Given the description of an element on the screen output the (x, y) to click on. 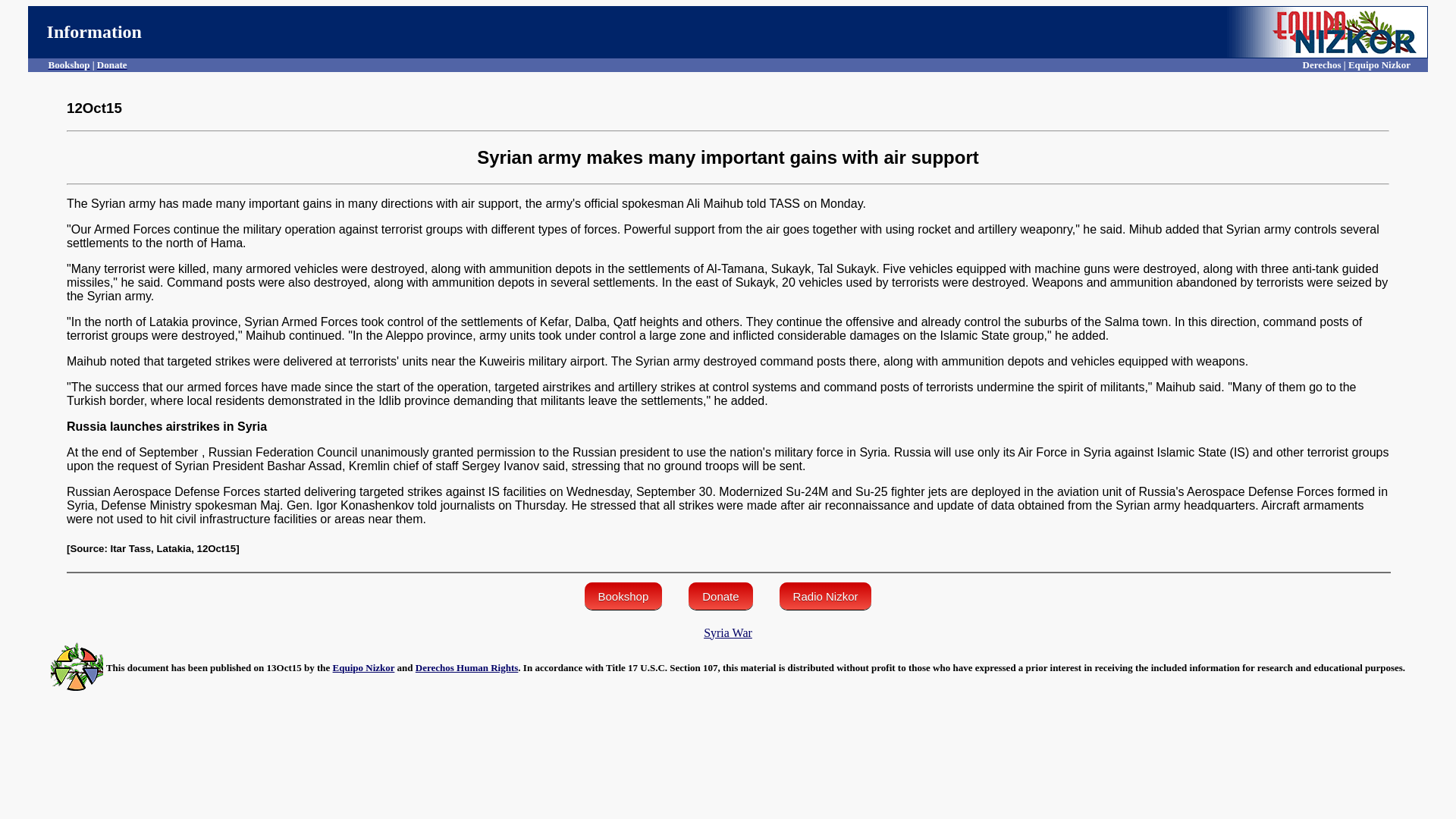
Donate (112, 64)
Bookshop (69, 64)
Equipo Nizkor (363, 667)
Bookshop (623, 595)
Syria War (727, 632)
Donate (720, 595)
Radio Nizkor (825, 595)
Derechos Human Rights (466, 667)
